Given the description of an element on the screen output the (x, y) to click on. 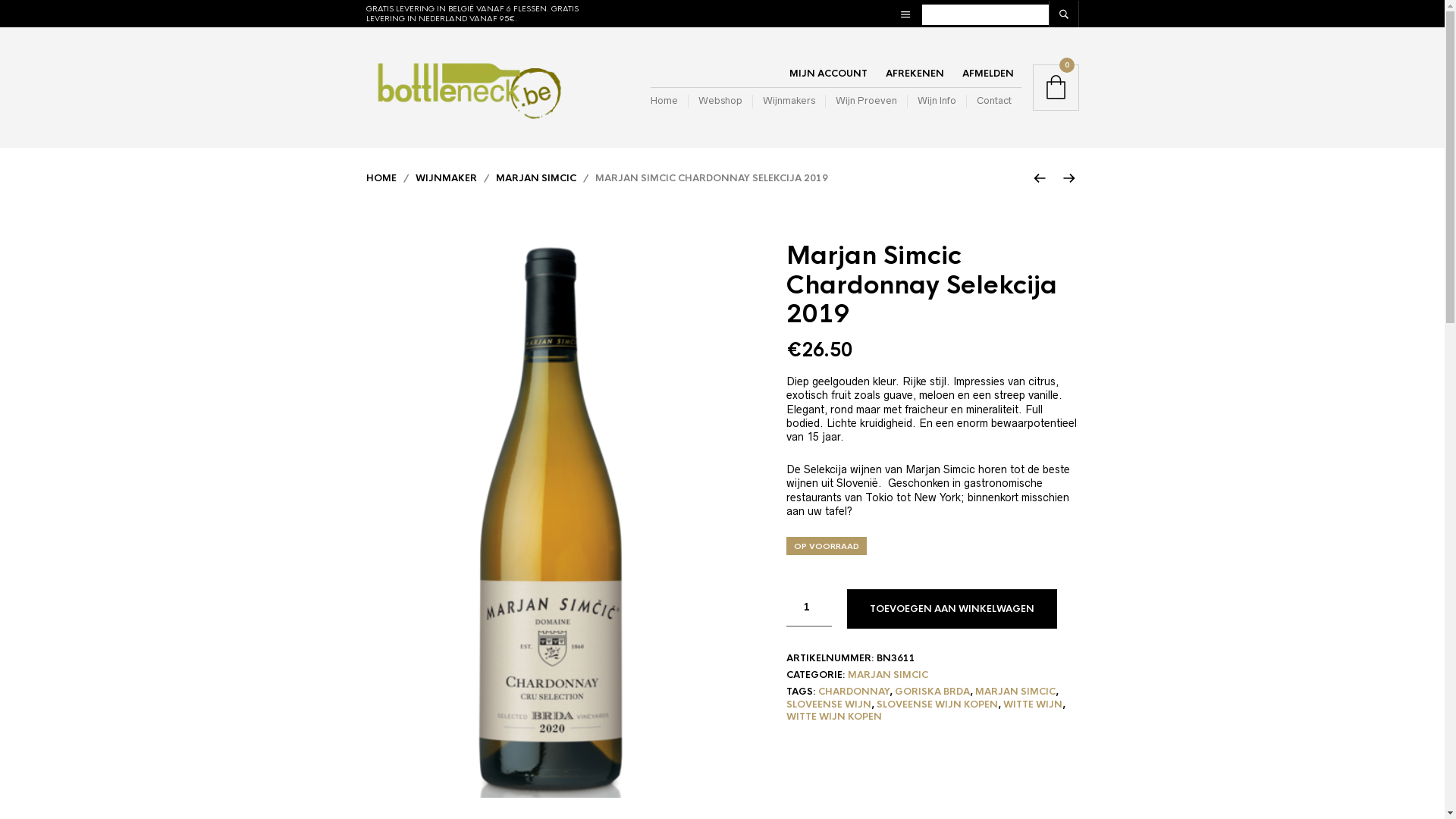
HOME Element type: text (380, 178)
WITTE WIJN Element type: text (1032, 704)
TOEVOEGEN AAN WINKELWAGEN Element type: text (952, 608)
MARJAN SIMCIC Element type: text (887, 674)
Home Element type: text (668, 100)
Wijn Proeven Element type: text (865, 100)
Contact Element type: text (993, 100)
CHARDONNAY Element type: text (853, 691)
Wijnmakers Element type: text (788, 100)
MARJAN SIMCIC Element type: text (535, 178)
GORISKA BRDA Element type: text (931, 691)
Marjan-Simcic-Chardonnay-Cru-Selekcija Element type: hover (550, 519)
WITTE WIJN KOPEN Element type: text (833, 716)
Webshop Element type: text (719, 100)
Wijn Info Element type: text (936, 100)
MIJN ACCOUNT Element type: text (827, 73)
SLOVEENSE WIJN Element type: text (828, 704)
AFMELDEN Element type: text (986, 73)
WIJNMAKER Element type: text (445, 178)
AFREKENEN Element type: text (914, 73)
MARJAN SIMCIC Element type: text (1015, 691)
0 Element type: text (1055, 87)
SLOVEENSE WIJN KOPEN Element type: text (936, 704)
